Given the description of an element on the screen output the (x, y) to click on. 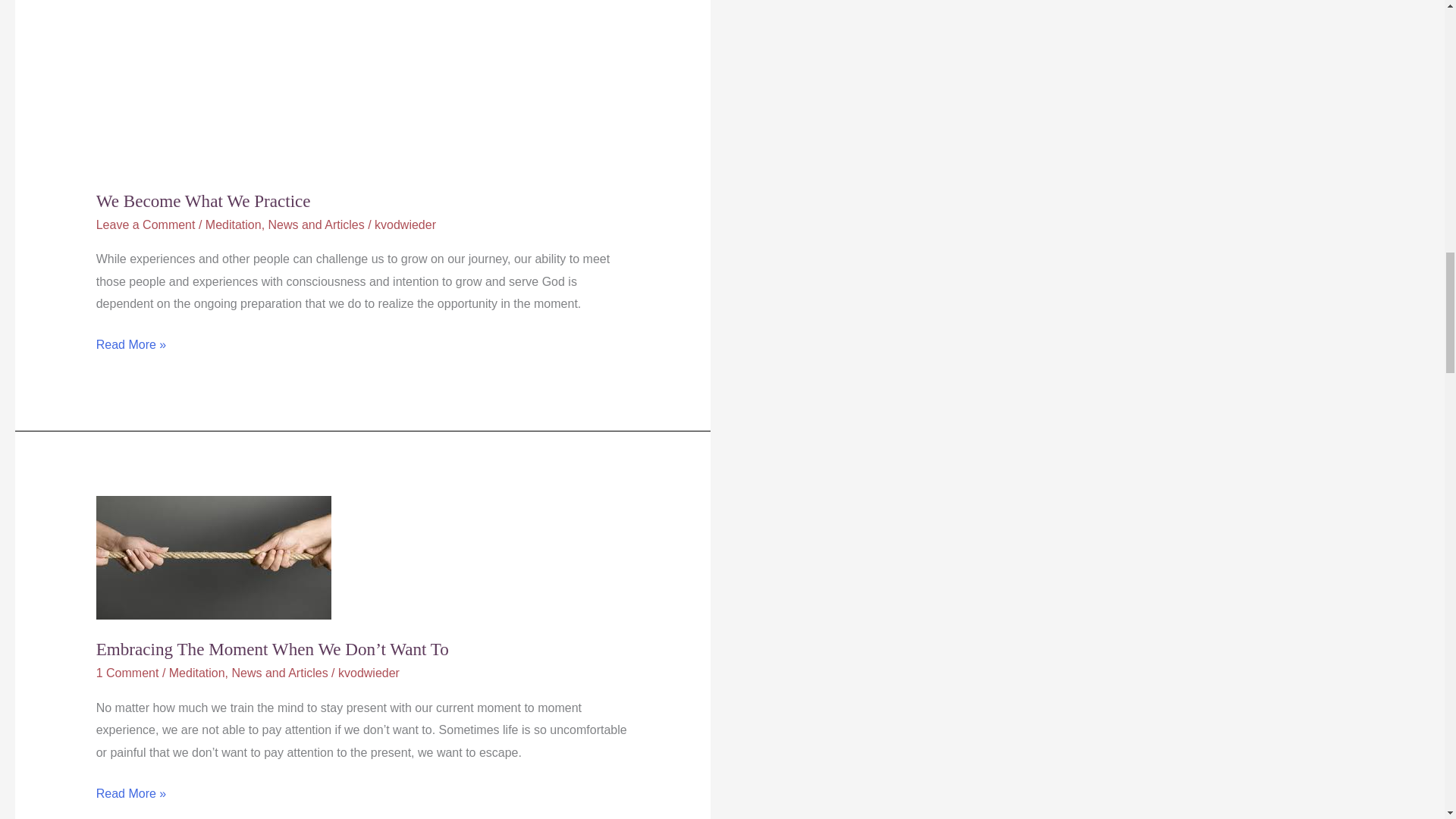
View all posts by kvodwieder (367, 672)
Meditation (196, 672)
News and Articles (279, 672)
1 Comment (127, 672)
Meditation (233, 224)
News and Articles (316, 224)
Leave a Comment (145, 224)
We Become What We Practice (203, 200)
kvodwieder (404, 224)
kvodwieder (367, 672)
